Given the description of an element on the screen output the (x, y) to click on. 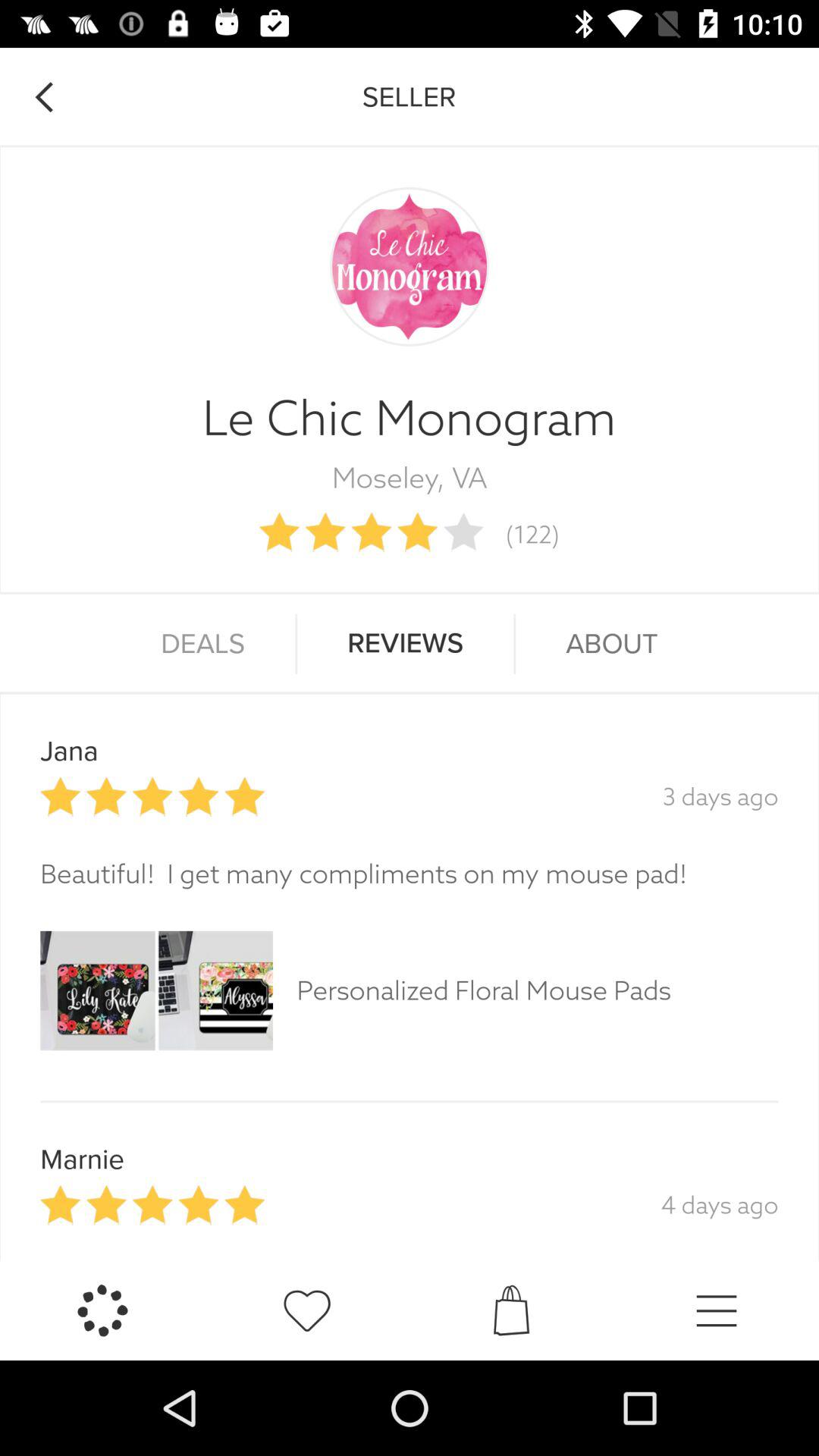
open icon at the top left corner (43, 97)
